Given the description of an element on the screen output the (x, y) to click on. 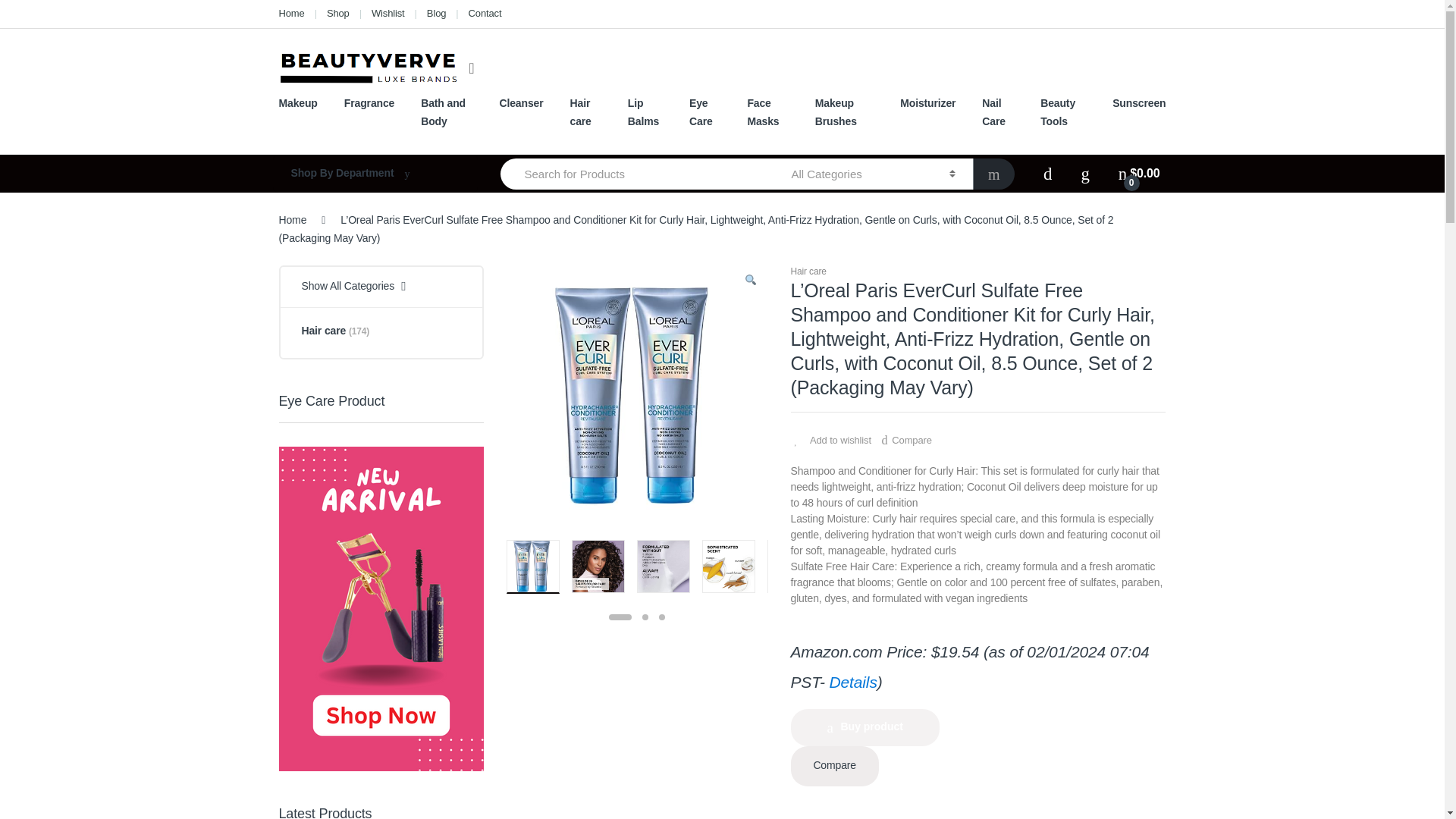
Wishlist (387, 13)
Cleanser (521, 103)
Home (291, 13)
Wishlist (387, 13)
Shop (337, 13)
Blog (435, 13)
Makeup (298, 103)
Contact (485, 13)
Shop (337, 13)
Home (291, 13)
Fragrance (368, 103)
Blog (435, 13)
Contact (485, 13)
Bath and Body (445, 112)
Makeup Brushes (844, 112)
